Given the description of an element on the screen output the (x, y) to click on. 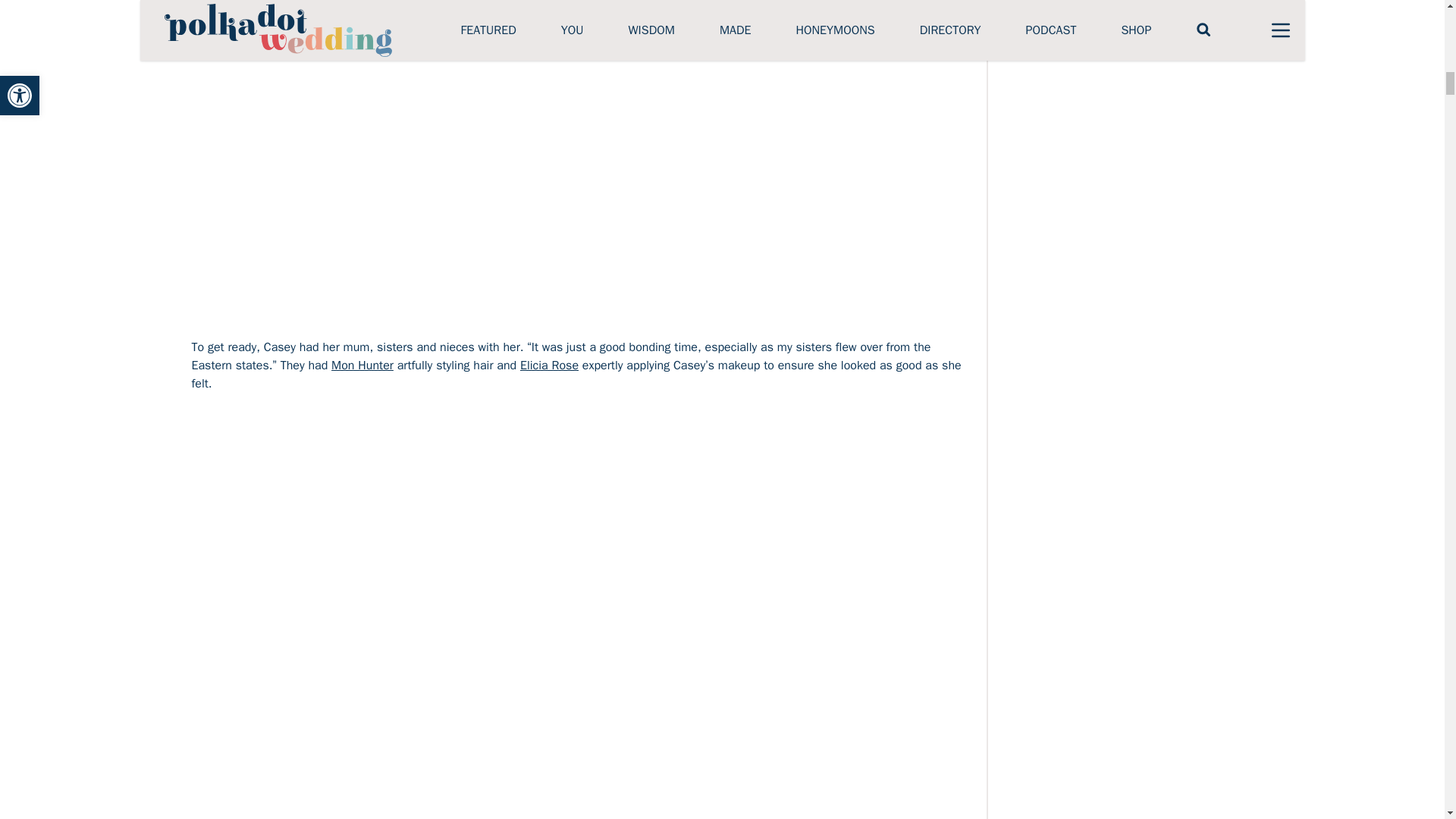
Mon Hunter (362, 365)
Elicia Rose (548, 365)
